Given the description of an element on the screen output the (x, y) to click on. 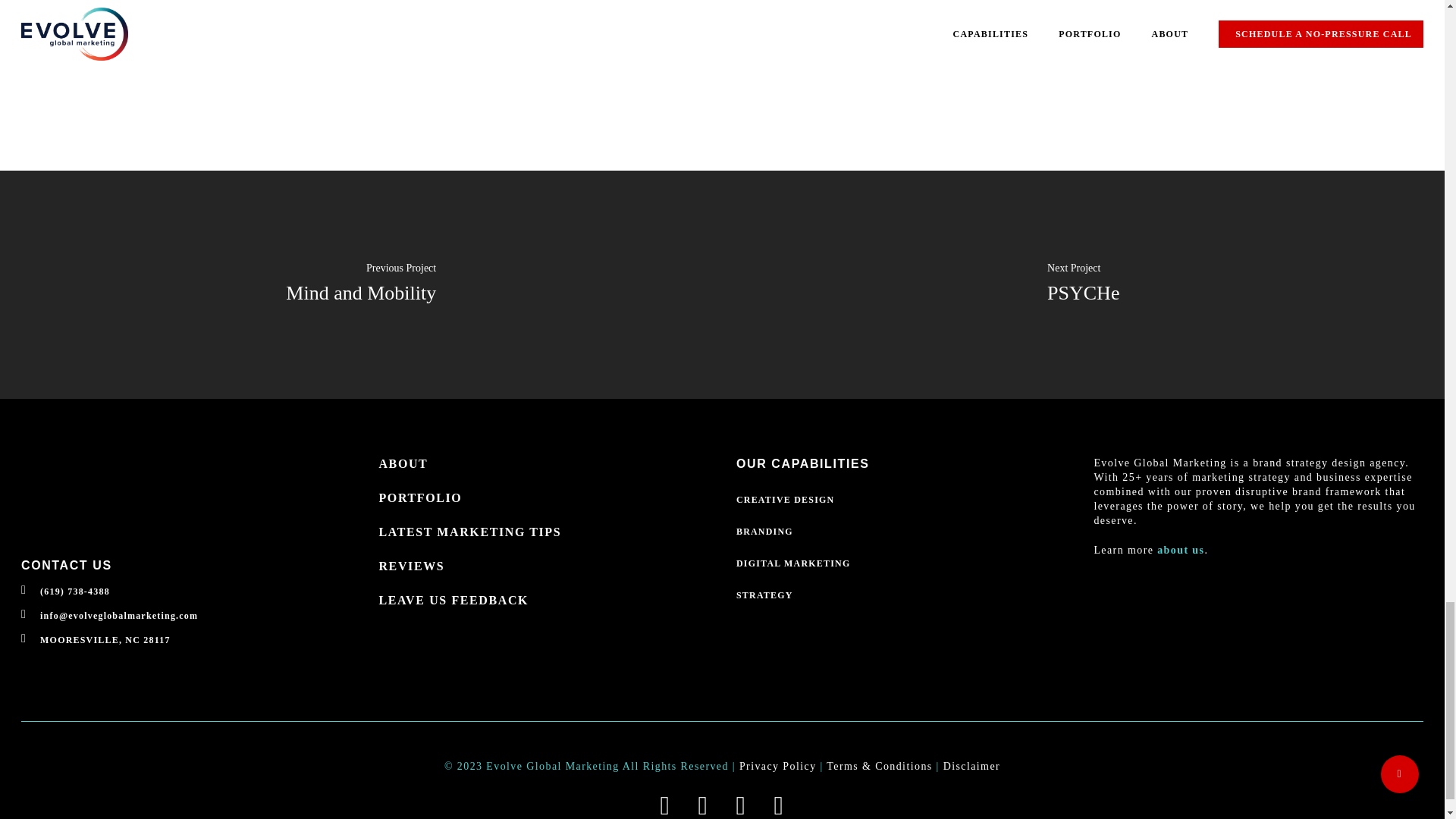
LEAVE US FEEDBACK (542, 600)
PORTFOLIO (542, 497)
DIGITAL MARKETING (900, 563)
ABOUT (542, 463)
LATEST MARKETING TIPS (542, 532)
Disclaimer (971, 766)
about us (1180, 550)
STRATEGY (900, 594)
CONTACT US (66, 564)
Privacy Policy (777, 766)
CREATIVE DESIGN (900, 499)
REVIEWS (542, 565)
BRANDING (900, 531)
